Given the description of an element on the screen output the (x, y) to click on. 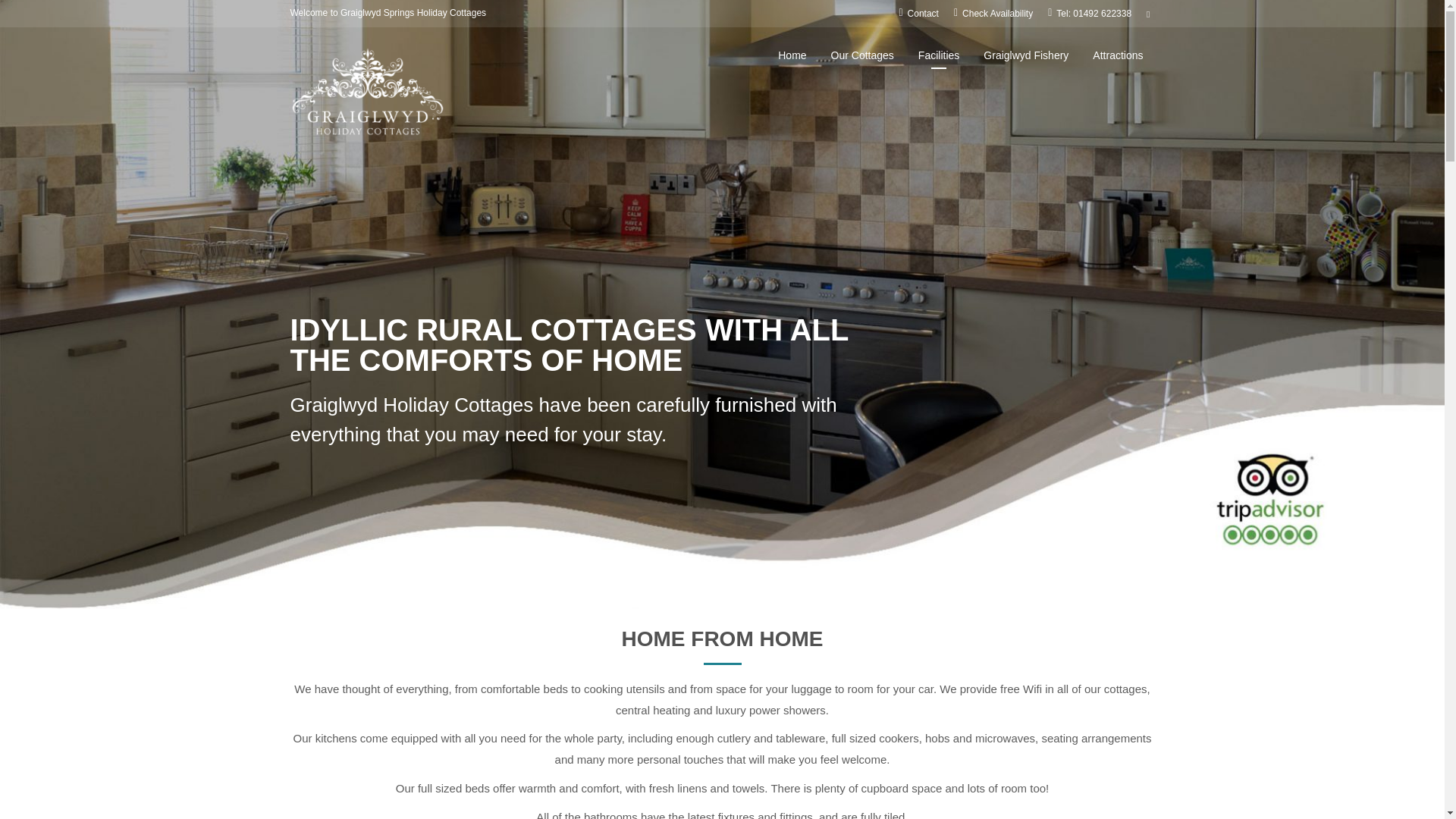
Attractions (1117, 55)
Tel: 01492 622338 (1089, 13)
Facilities (938, 55)
Contact (917, 13)
Check Availability (992, 13)
Our Cottages (862, 55)
Graiglwyd Fishery (1026, 55)
